Given the description of an element on the screen output the (x, y) to click on. 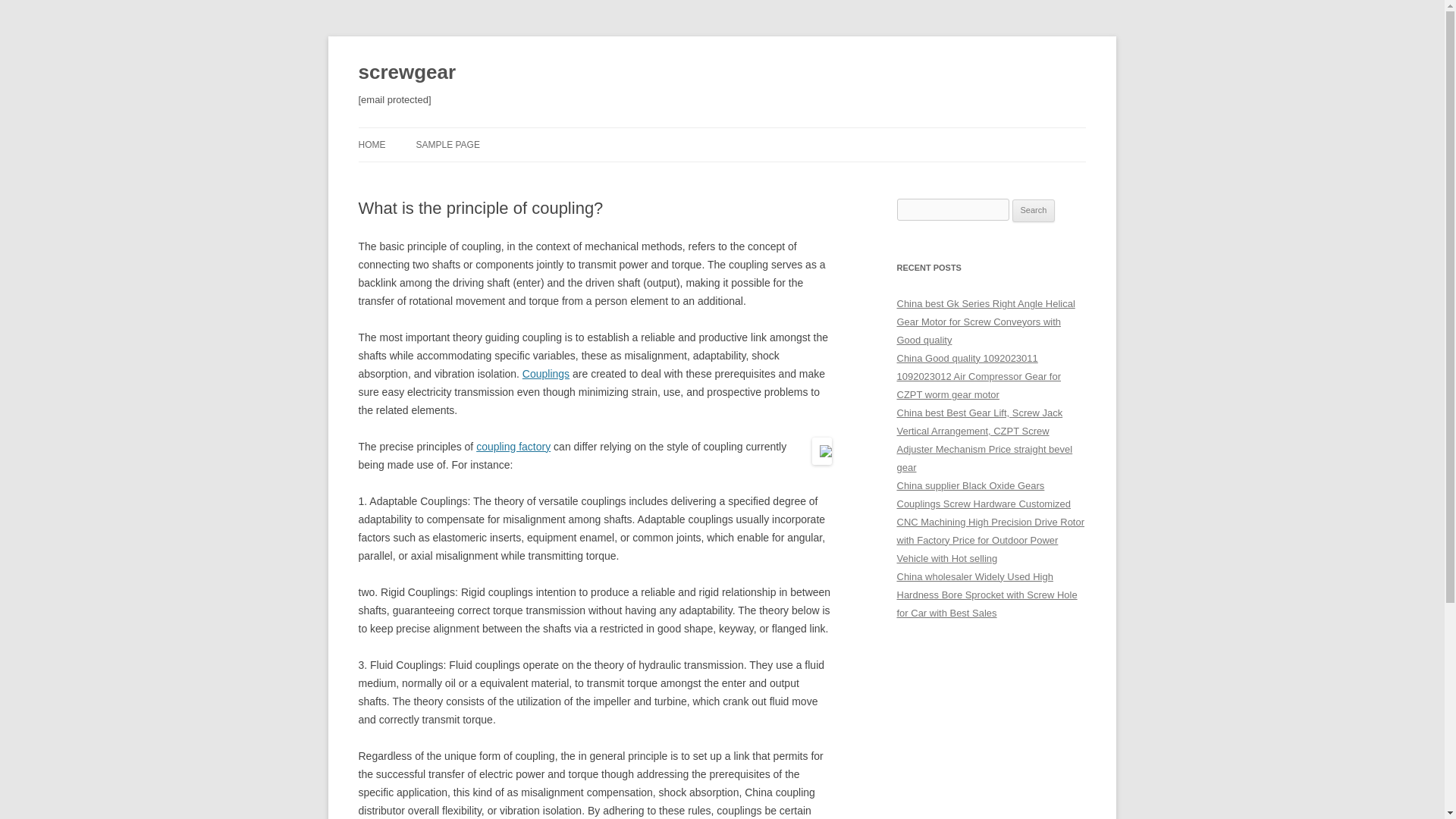
Search (1033, 210)
Search (1033, 210)
HOME (371, 144)
screwgear (406, 72)
coupling factory (513, 446)
Couplings (545, 373)
SAMPLE PAGE (446, 144)
screwgear (406, 72)
